Given the description of an element on the screen output the (x, y) to click on. 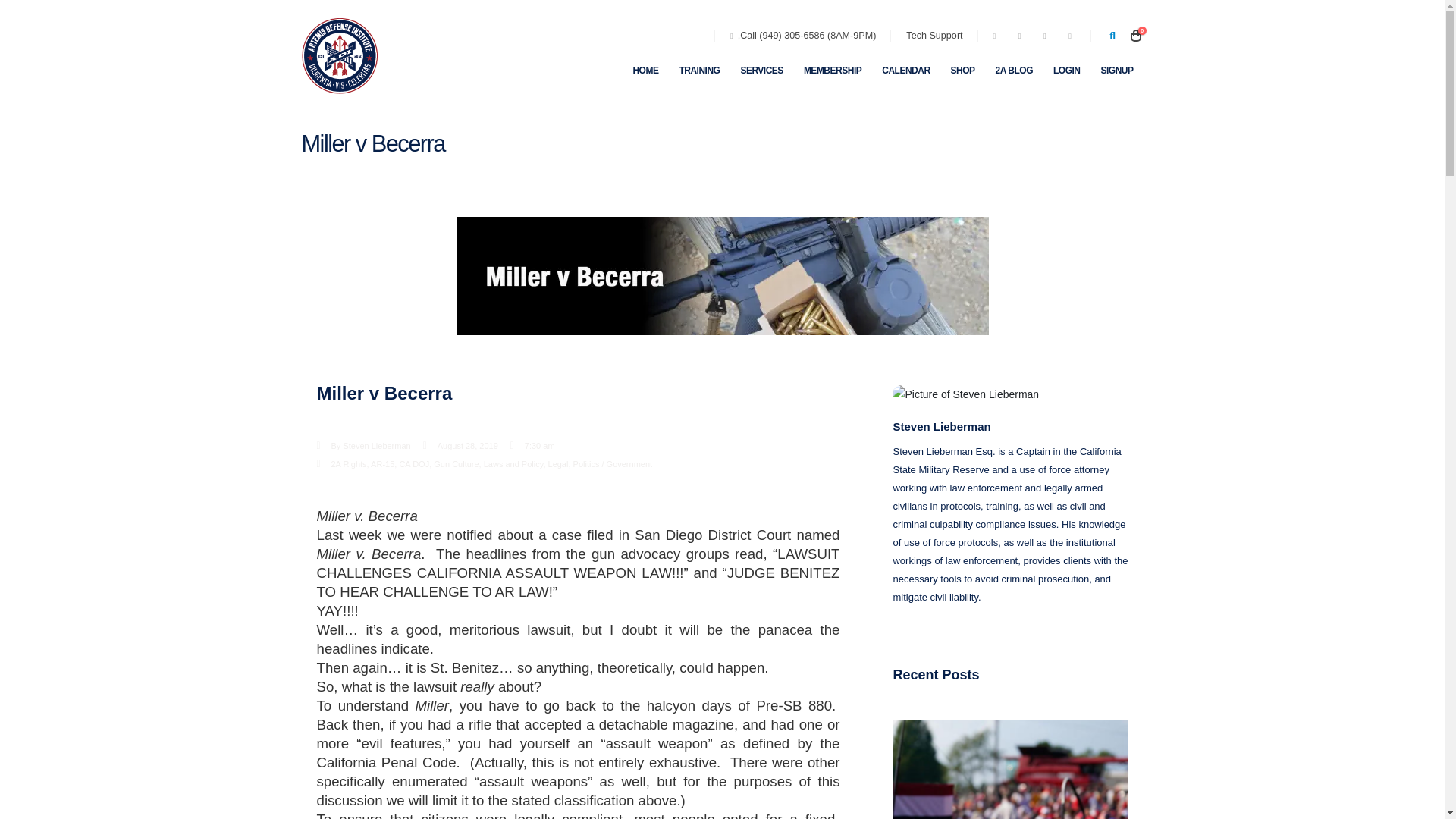
TRAINING (698, 70)
Artemis Defense Institute -  (339, 56)
HOME (645, 70)
Tech Support (933, 35)
